Given the description of an element on the screen output the (x, y) to click on. 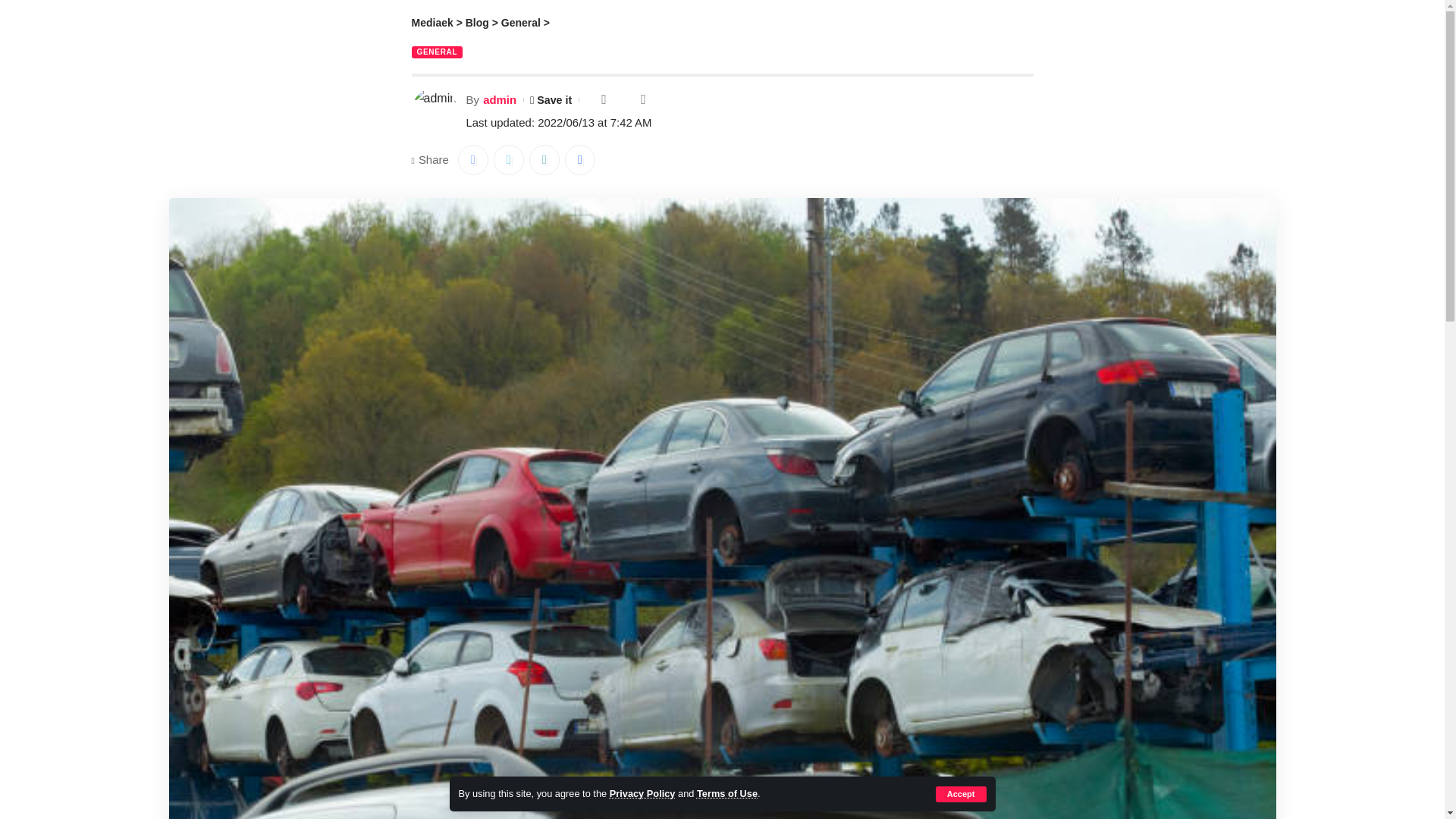
Go to Mediaek. (431, 22)
Terms of Use (727, 793)
Mediaek (431, 22)
Go to Blog. (477, 22)
admin (499, 99)
Accept (961, 794)
General (520, 22)
GENERAL (436, 51)
Privacy Policy (642, 793)
Go to the General Category archives. (520, 22)
